Given the description of an element on the screen output the (x, y) to click on. 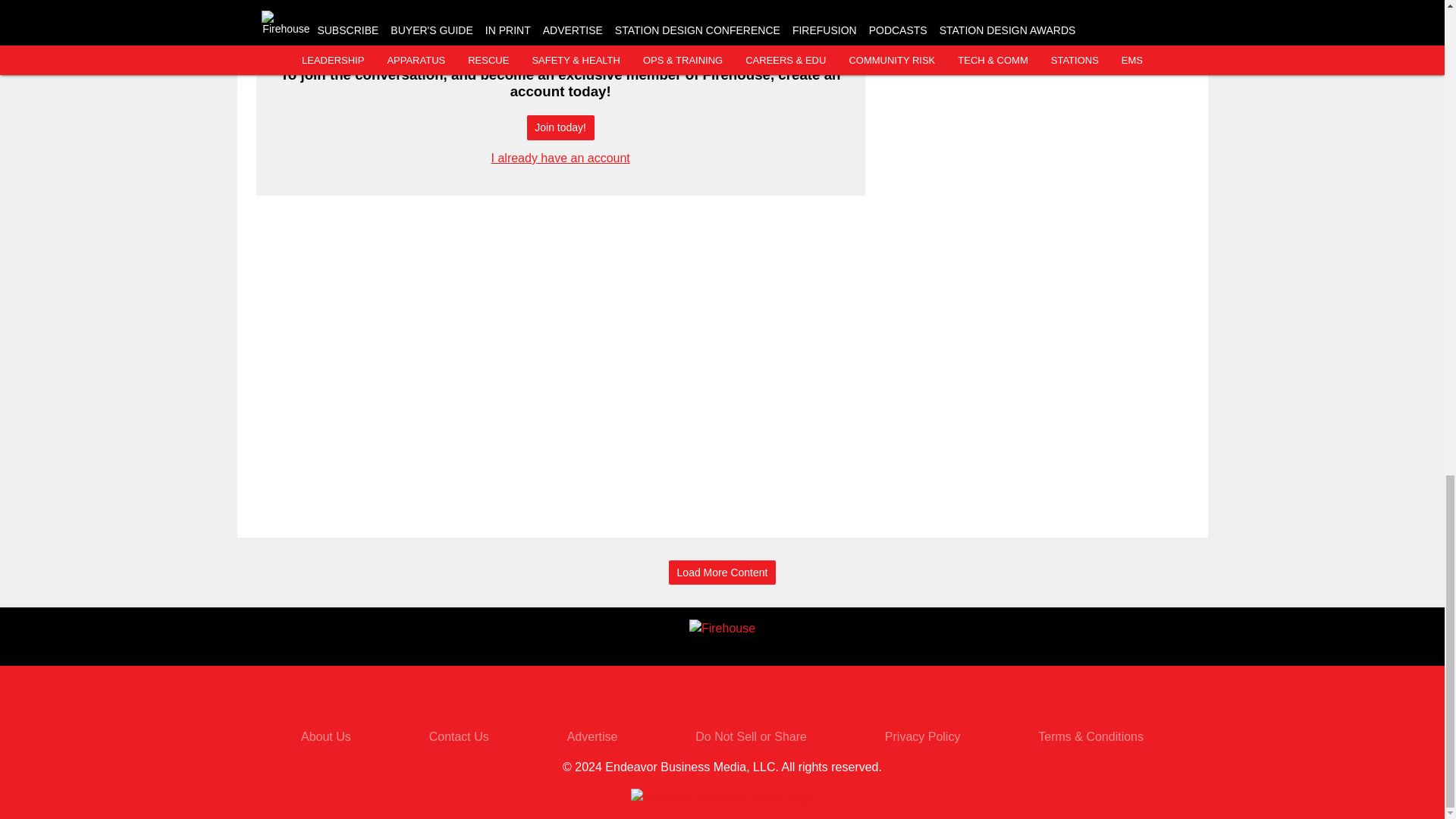
Join today! (560, 127)
I already have an account (561, 157)
